Given the description of an element on the screen output the (x, y) to click on. 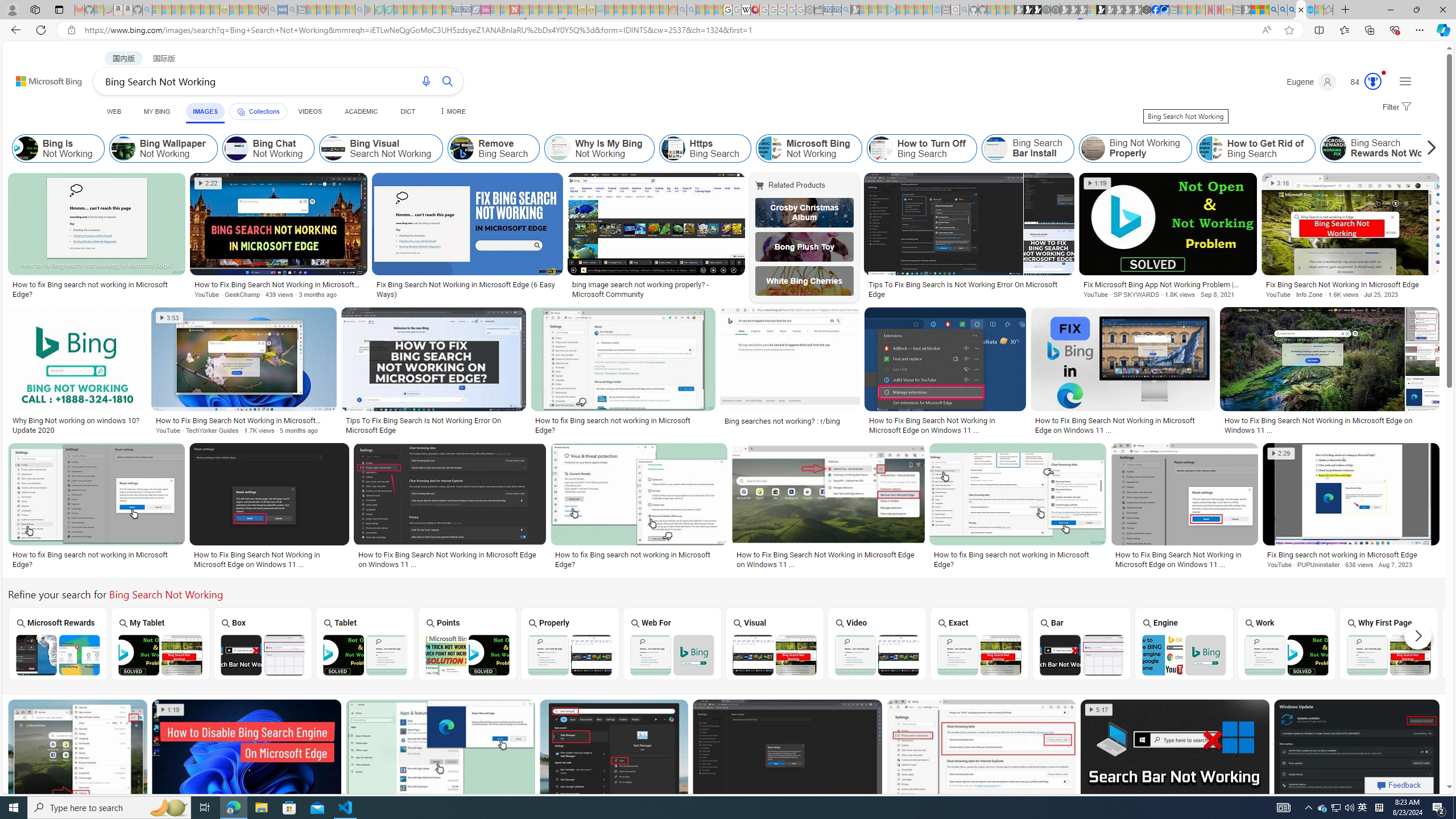
Search using voice (426, 80)
How to fix Bing search not working in Microsoft Edge? (1017, 559)
Bing searches not working? : r/bing (782, 420)
Fix Bing Search Not Working In Microsoft Edge (1350, 284)
Bing Search Not Working On My Tablet (160, 655)
2:29 (1280, 453)
Back to Bing search (41, 78)
Future Focus Report 2024 - Sleeping (1054, 9)
Bing Search Points Not Working (467, 655)
